Given the description of an element on the screen output the (x, y) to click on. 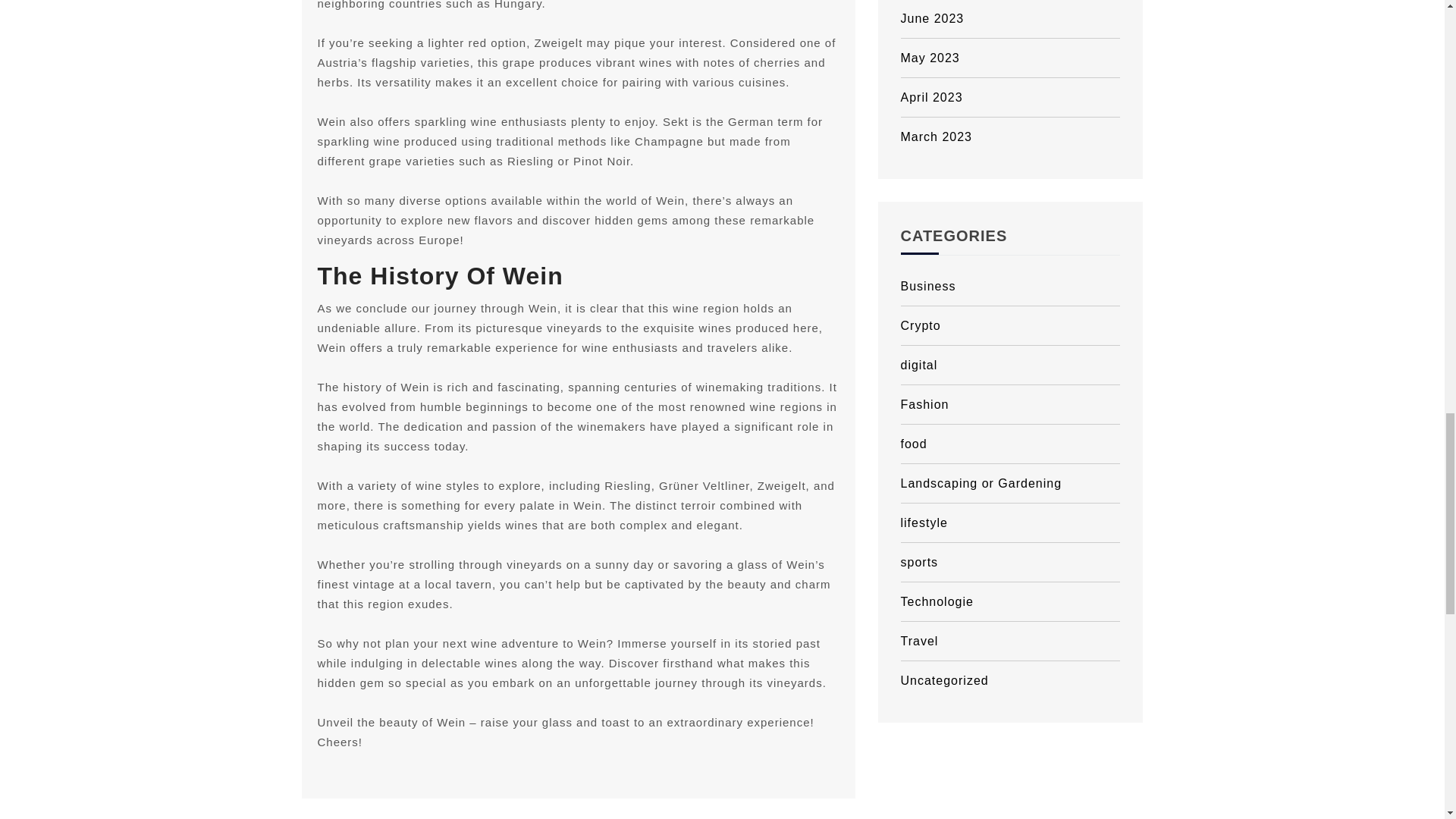
May 2023 (1011, 57)
Crypto (1011, 325)
Business (1011, 286)
April 2023 (1011, 97)
June 2023 (1011, 19)
Fashion (1011, 404)
food (1011, 444)
March 2023 (1011, 136)
digital (1011, 364)
